Given the description of an element on the screen output the (x, y) to click on. 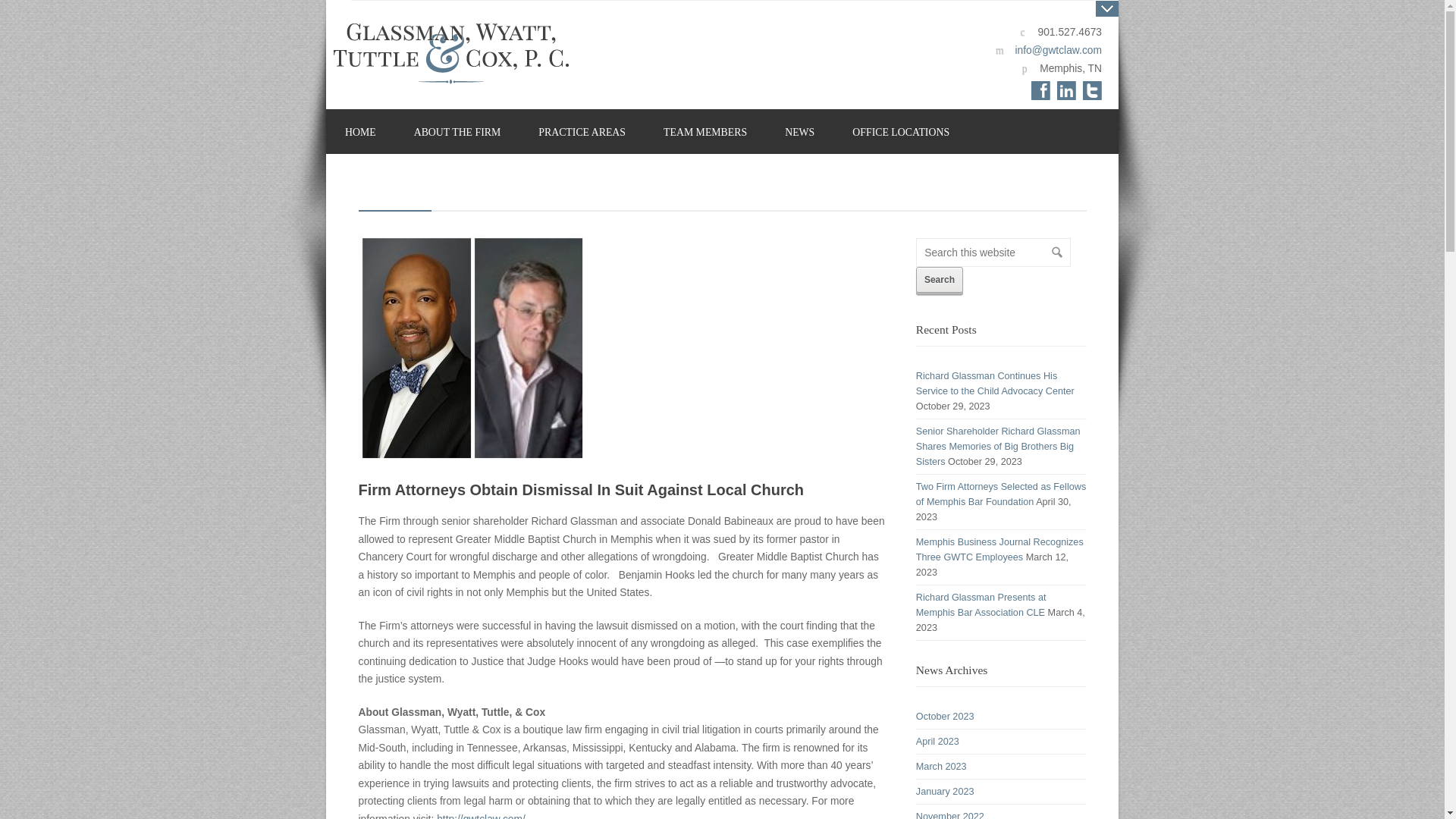
Search (938, 279)
Search (938, 279)
Search (938, 279)
March 2023 (940, 766)
PRACTICE AREAS (582, 132)
October 2023 (944, 716)
Memphis Business Journal Recognizes Three GWTC Employees (999, 549)
NEWS (798, 132)
OFFICE LOCATIONS (900, 132)
January 2023 (944, 791)
TEAM MEMBERS (705, 132)
Richard Glassman Presents at Memphis Bar Association CLE (980, 605)
ABOUT THE FIRM (456, 132)
